Given the description of an element on the screen output the (x, y) to click on. 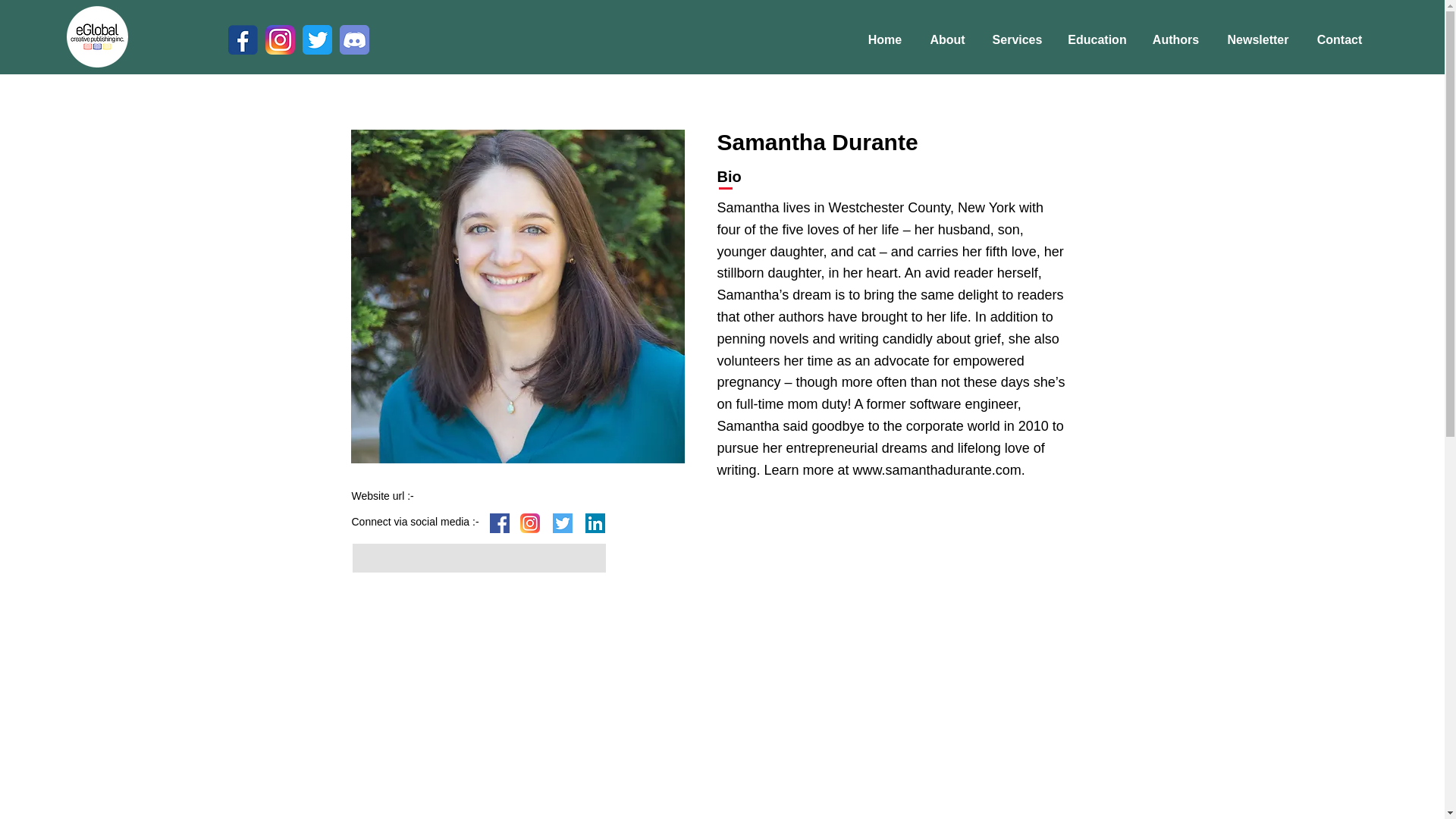
Newsletter (1257, 39)
Samantha Durante.jpg (517, 296)
facebook (499, 523)
Education (1096, 39)
Home (884, 39)
Authors (1175, 39)
linkedin (595, 523)
www.samanthadurante.com (937, 469)
Contact (1339, 39)
About (946, 39)
instagram (529, 523)
twitter (561, 523)
